Given the description of an element on the screen output the (x, y) to click on. 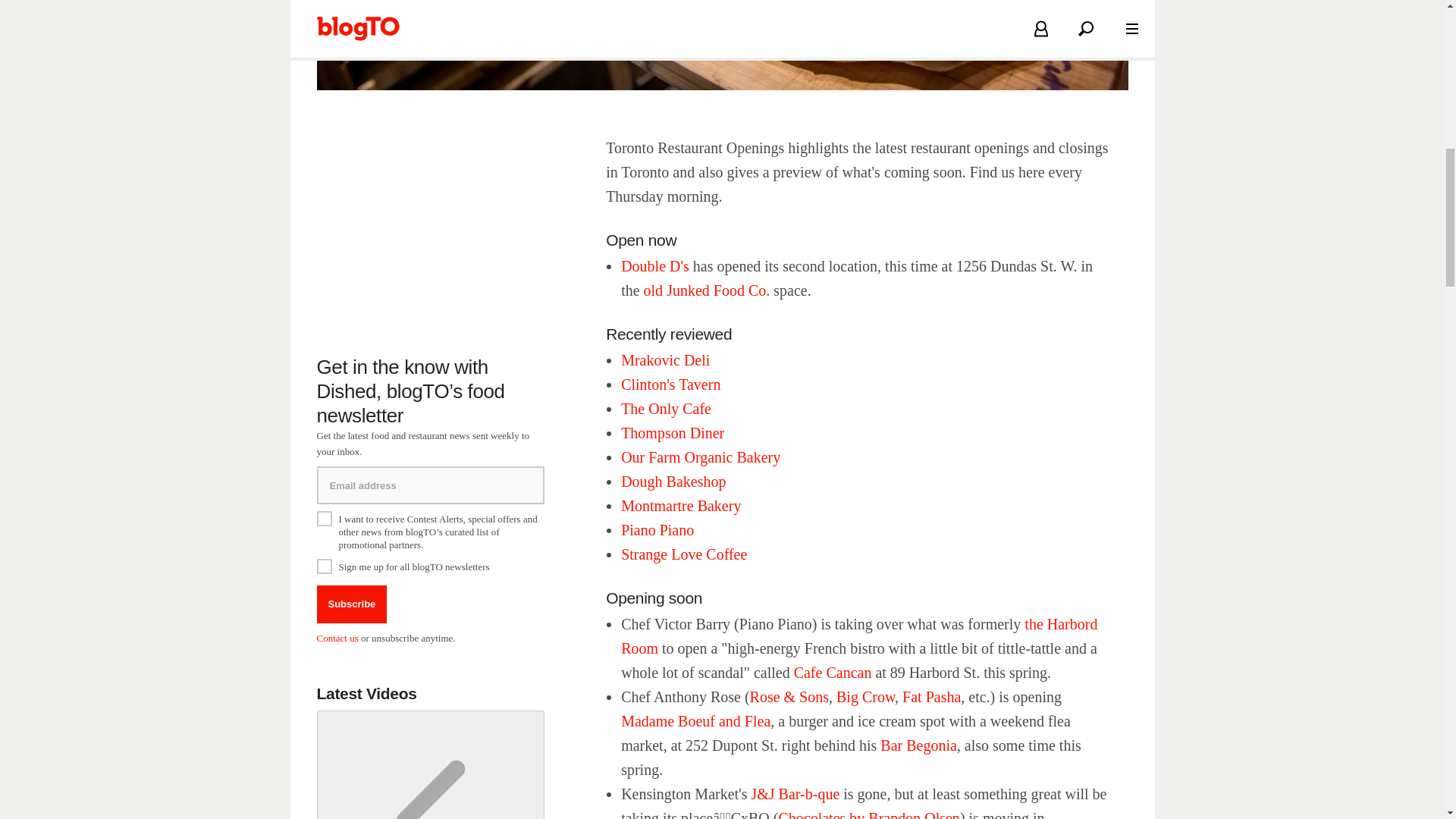
Subscribe (352, 604)
